Given the description of an element on the screen output the (x, y) to click on. 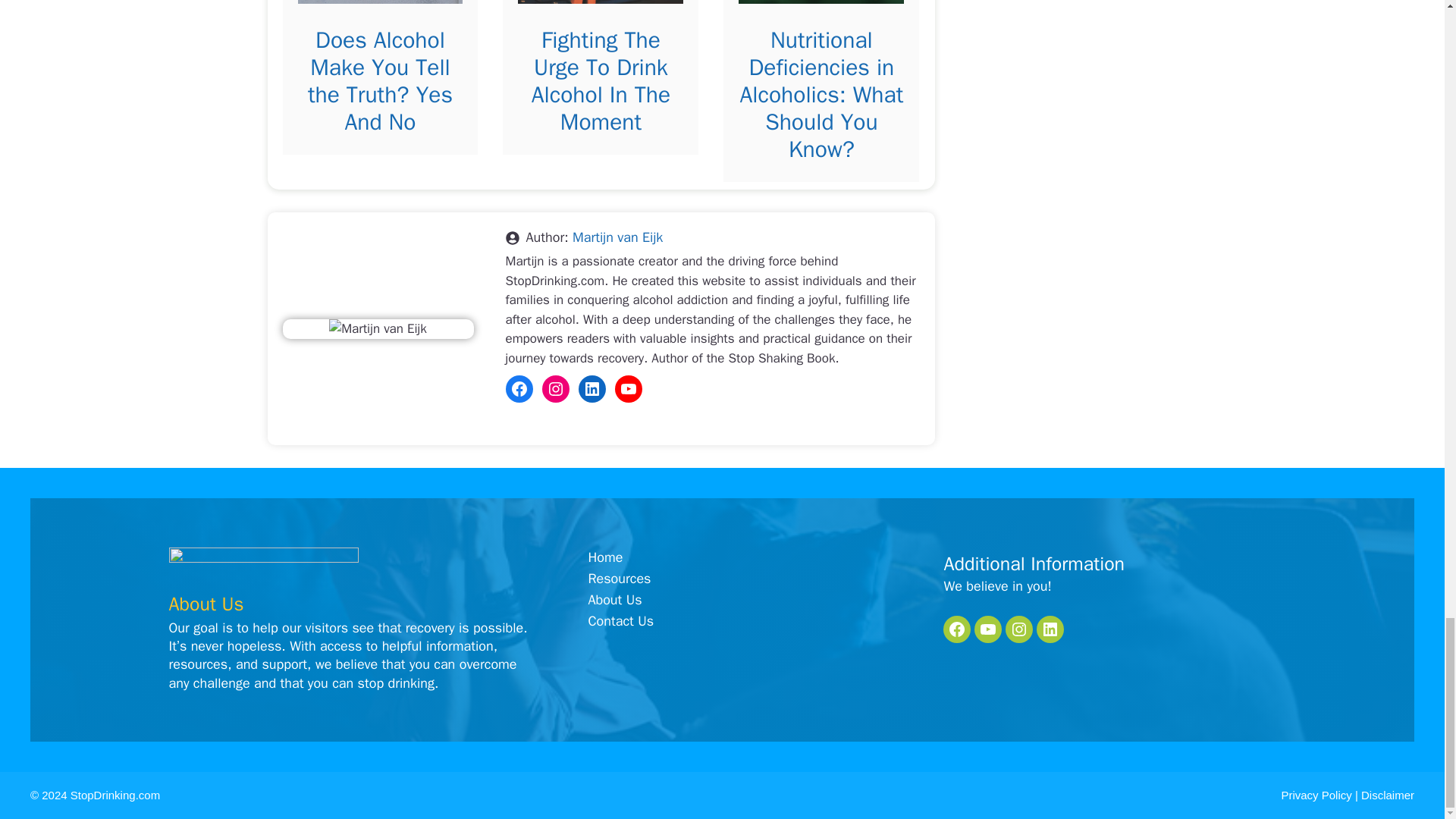
Fighting The Urge To Drink Alcohol In The Moment (600, 80)
Martijn van Eijk (617, 237)
Home (605, 557)
Instagram (555, 388)
LinkedIn (591, 388)
Contact Us (620, 620)
Does Alcohol Make You Tell the Truth? Yes And No (379, 80)
Resources (619, 578)
YouTube (628, 388)
About Us (615, 599)
Facebook (518, 388)
stopdrinking logo 3 (263, 566)
